Given the description of an element on the screen output the (x, y) to click on. 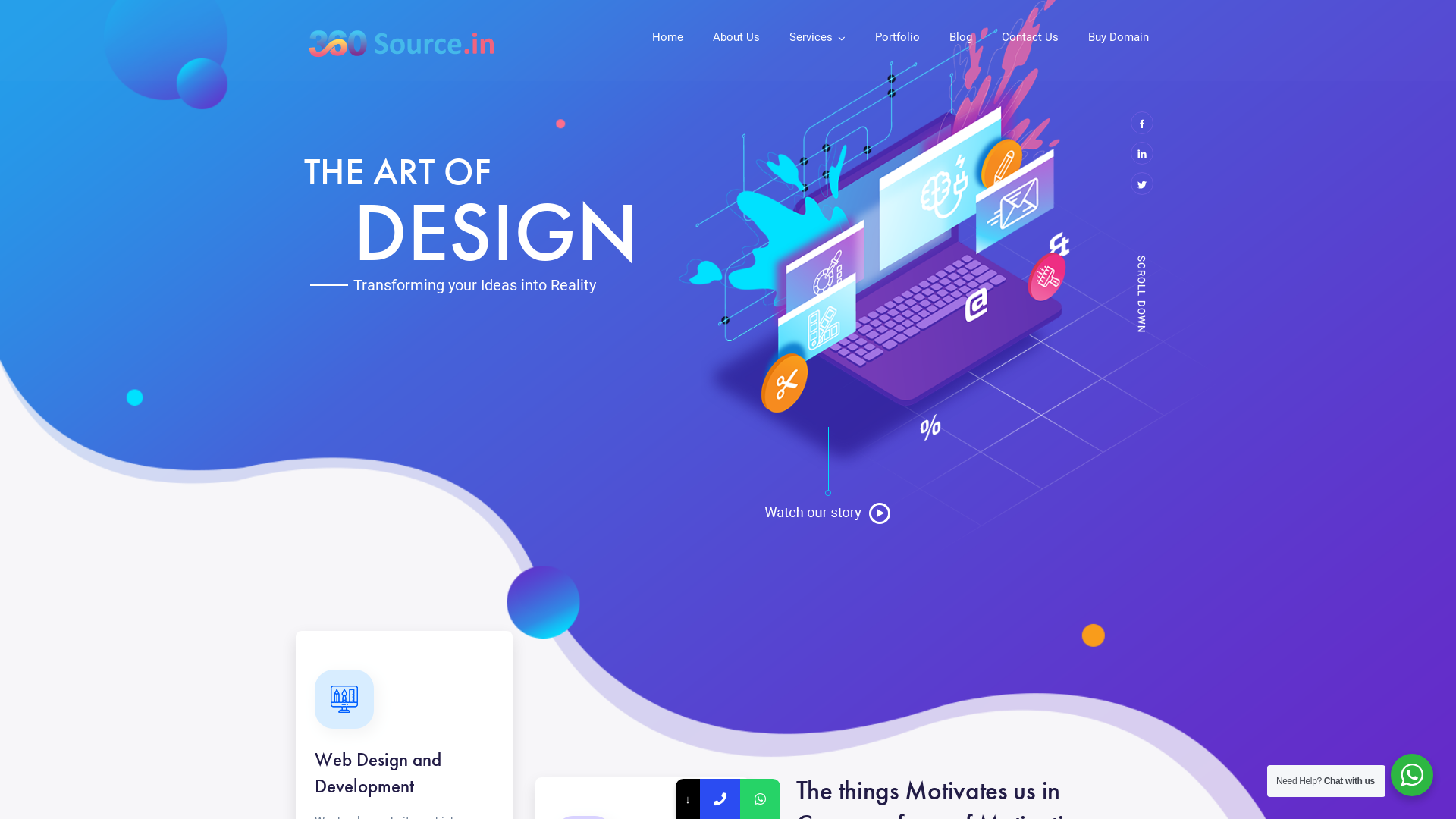
Phone Element type: text (728, 792)
Portfolio Element type: text (897, 38)
Buy Domain Element type: text (1118, 38)
Blog Element type: text (960, 38)
Contact Us Element type: text (1029, 38)
Home Element type: text (667, 38)
About Us Element type: text (735, 38)
Services Element type: text (817, 38)
Web Design and Development Element type: text (377, 772)
